Given the description of an element on the screen output the (x, y) to click on. 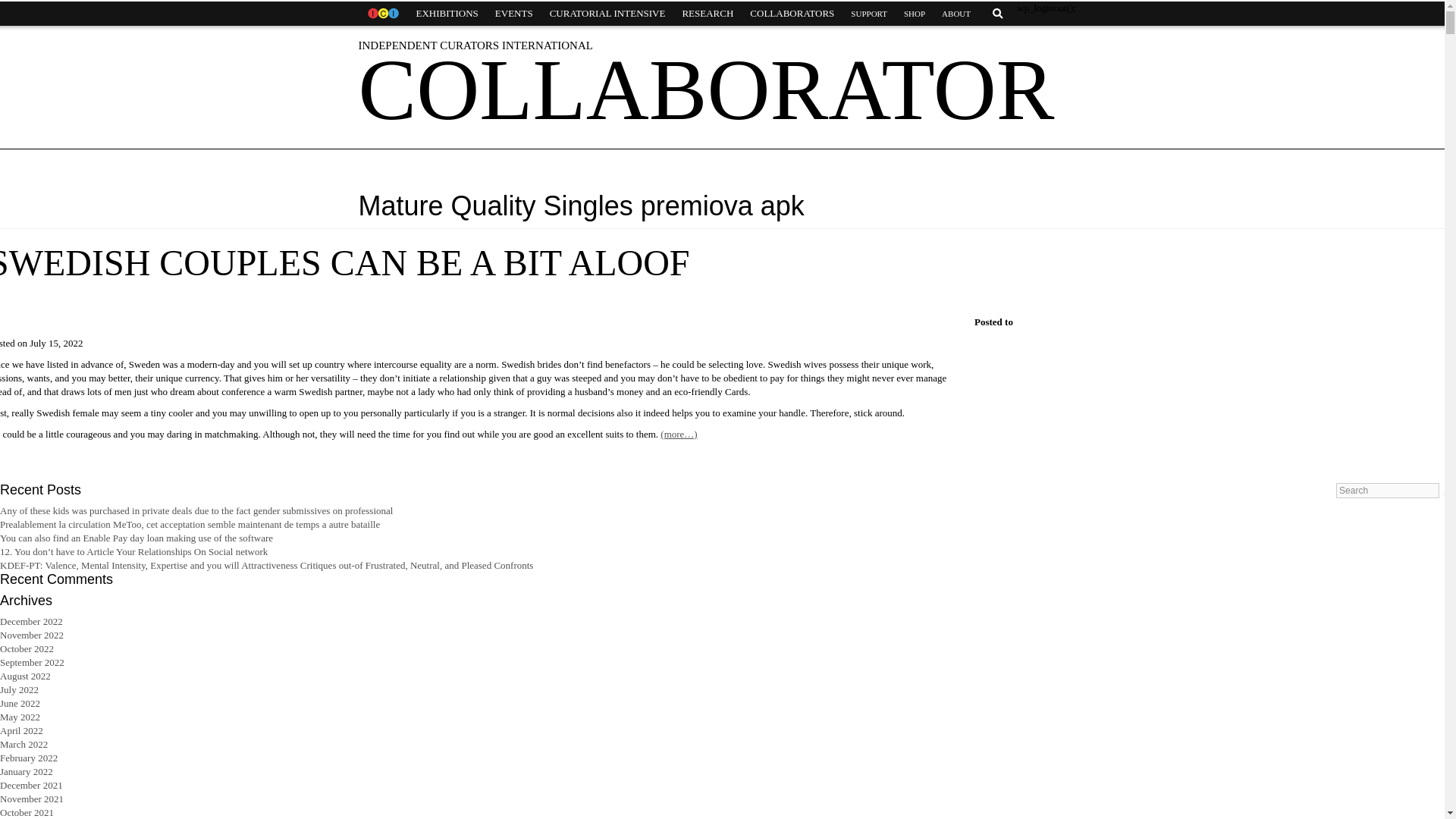
COLLABORATORS (792, 13)
CURATORIAL INTENSIVE (607, 13)
HOME (382, 13)
EVENTS (513, 13)
RESEARCH (706, 13)
EXHIBITIONS (446, 13)
